Given the description of an element on the screen output the (x, y) to click on. 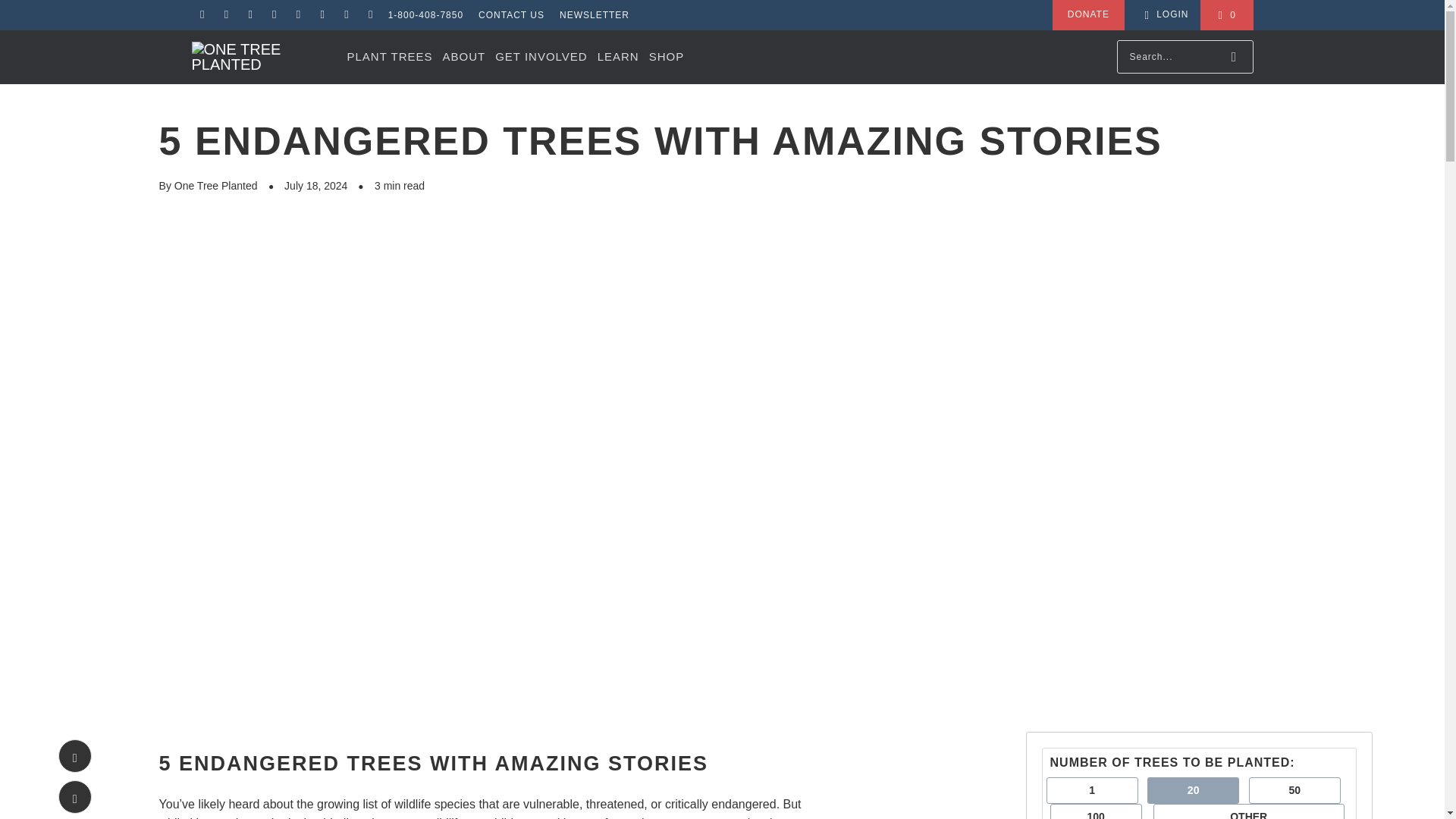
One Tree Planted on Pinterest (297, 14)
ABOUT (463, 56)
One Tree Planted on LinkedIn (274, 14)
One Tree Planted on Twitter (345, 14)
DONATE (1088, 15)
One Tree Planted on YouTube (368, 14)
CONTACT US (511, 14)
Email One Tree Planted (201, 14)
LOGIN (1164, 15)
One Tree Planted (260, 56)
1-800-408-7850 (425, 14)
GET INVOLVED (540, 56)
NEWSLETTER (593, 14)
0 (1225, 15)
One Tree Planted on TikTok (322, 14)
